Given the description of an element on the screen output the (x, y) to click on. 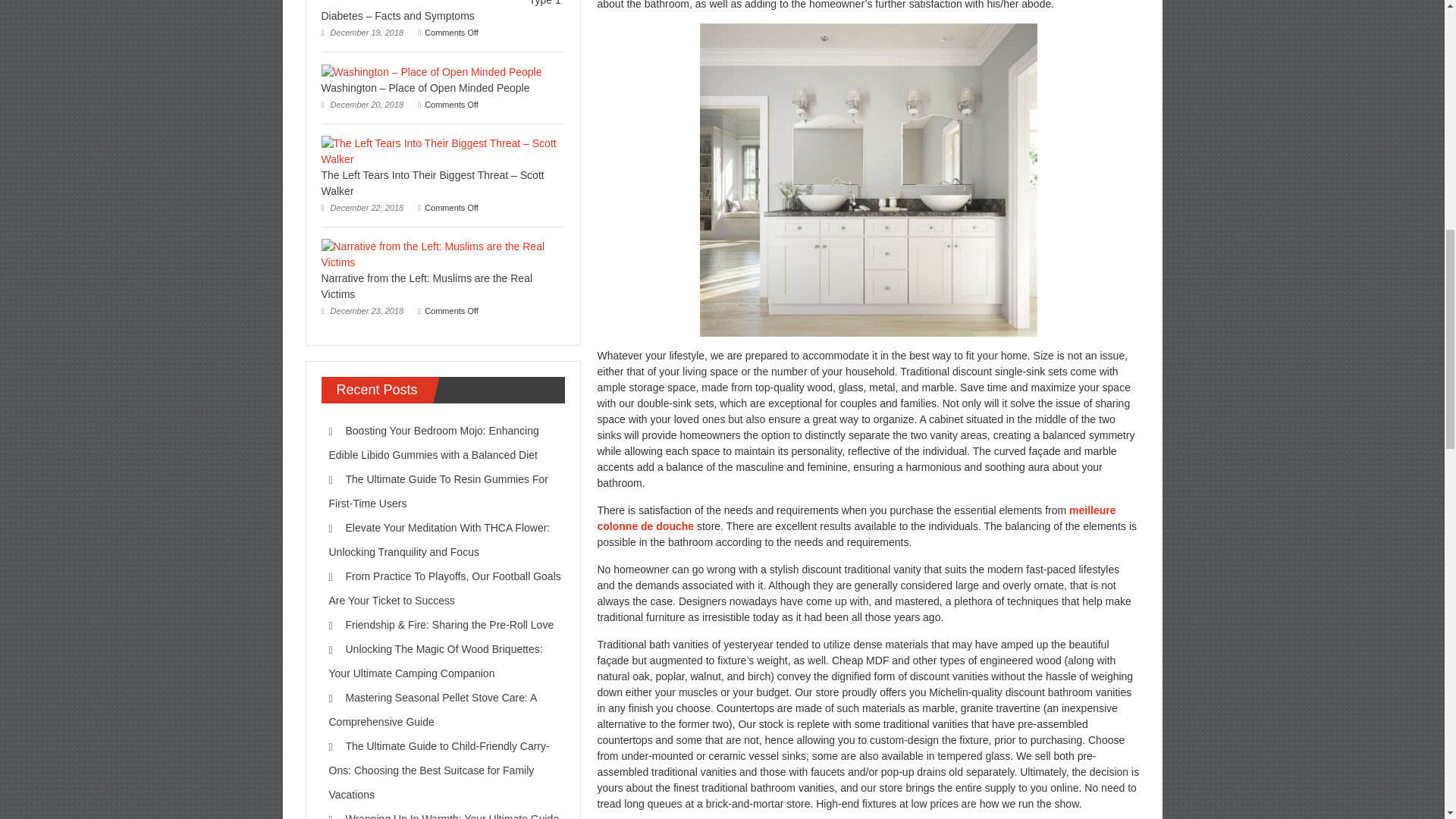
meilleure colonne de douche (856, 518)
